Given the description of an element on the screen output the (x, y) to click on. 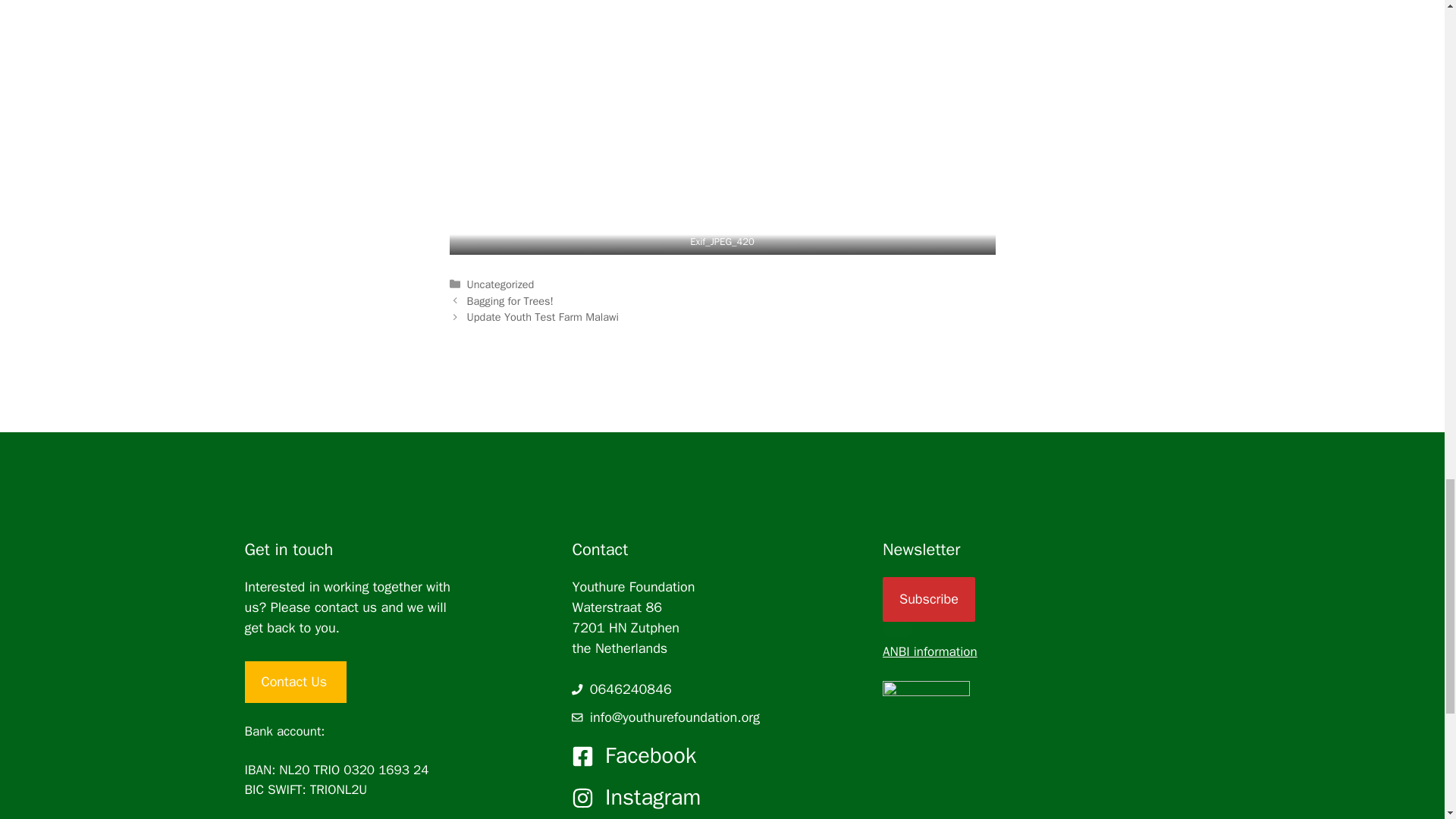
Instagram (652, 796)
Next (542, 316)
Facebook (650, 755)
Update Youth Test Farm Malawi (542, 316)
Uncategorized (500, 284)
Previous (510, 300)
Bagging for Trees! (510, 300)
Contact Us (295, 681)
